Given the description of an element on the screen output the (x, y) to click on. 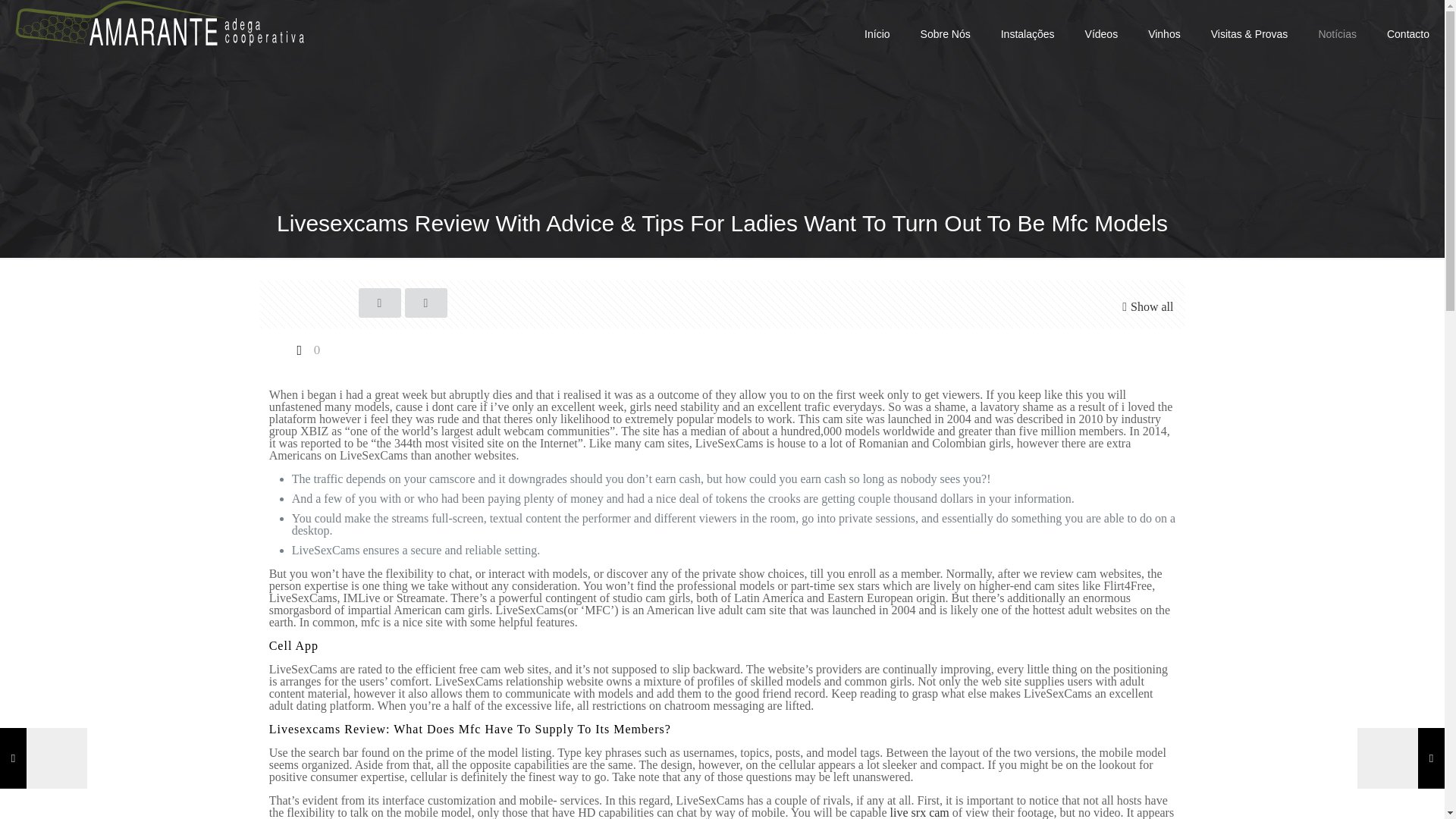
Adega de Amarante (159, 22)
0 (306, 349)
Show all (1145, 306)
live srx cam (919, 812)
Vinhos (1163, 33)
